Given the description of an element on the screen output the (x, y) to click on. 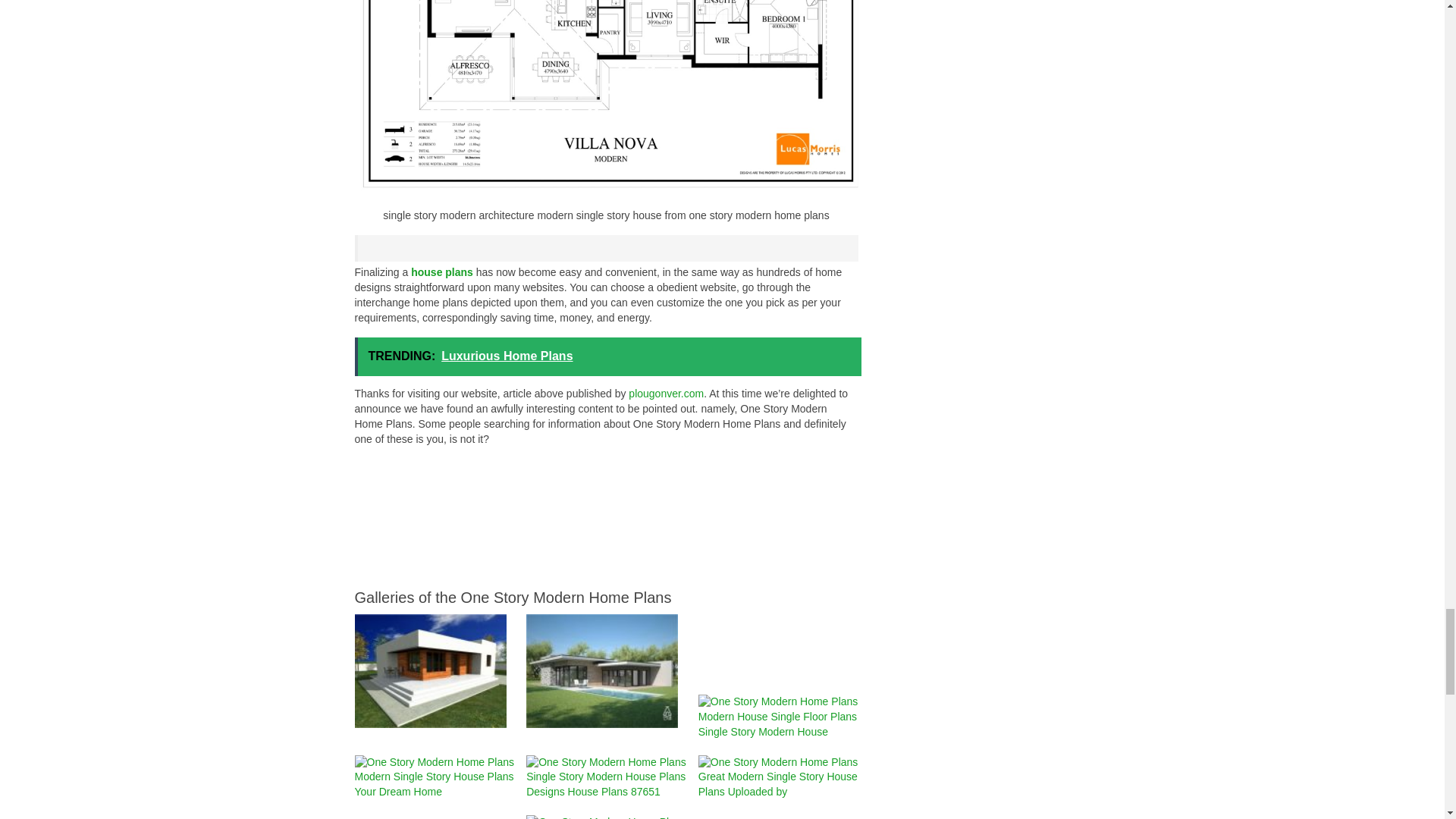
plougonver.com (665, 393)
One Story Modern Home Plans Single Story Modern House Plans (430, 671)
single story modern architecture modern single story house (607, 98)
TRENDING:  Luxurious Home Plans (608, 356)
house plans (441, 272)
